Given the description of an element on the screen output the (x, y) to click on. 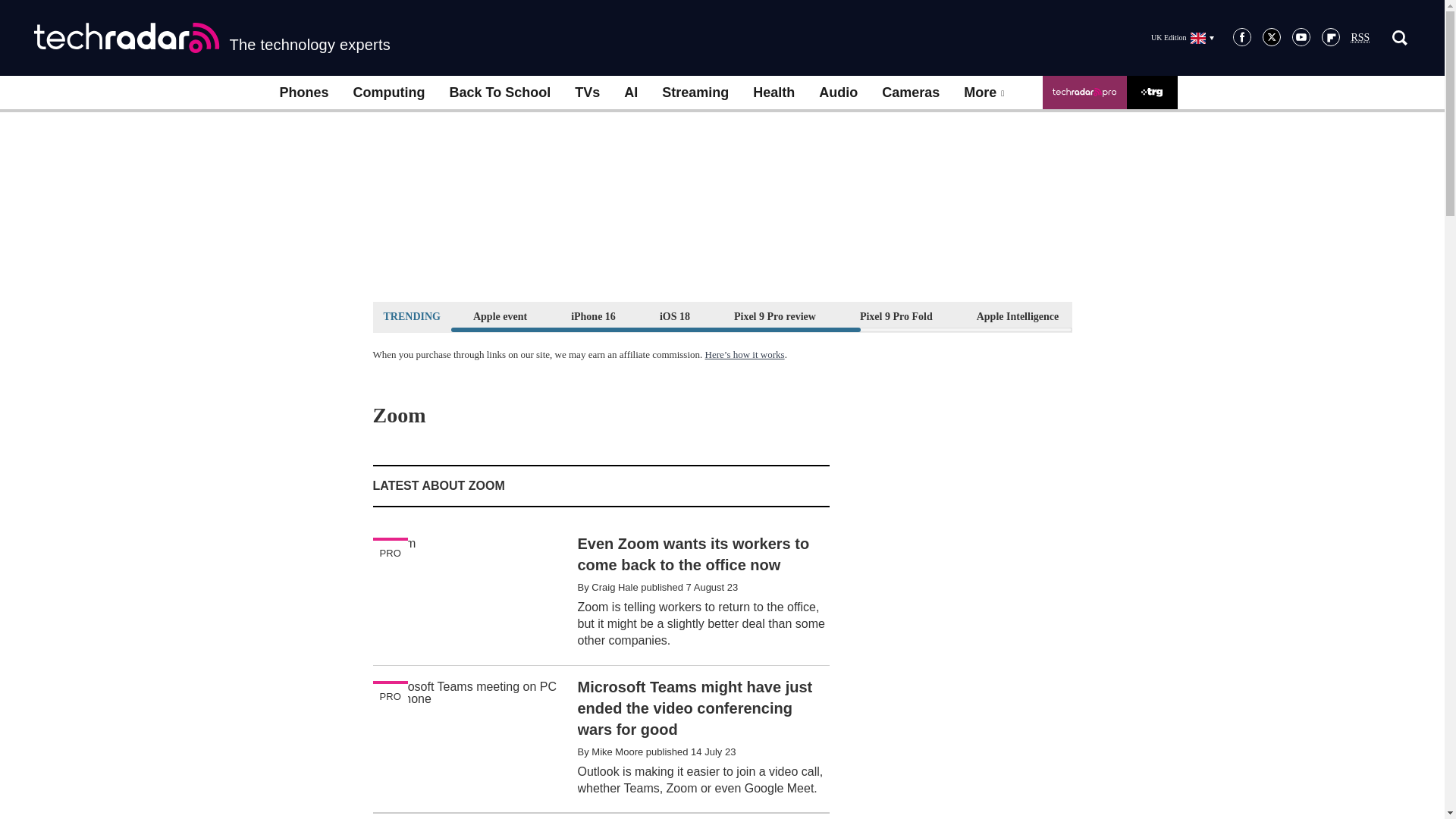
Computing (389, 92)
Back To School (499, 92)
AI (630, 92)
Really Simple Syndication (1360, 37)
TVs (586, 92)
Cameras (910, 92)
UK Edition (1181, 37)
Streaming (695, 92)
Health (773, 92)
The technology experts (211, 38)
